Given the description of an element on the screen output the (x, y) to click on. 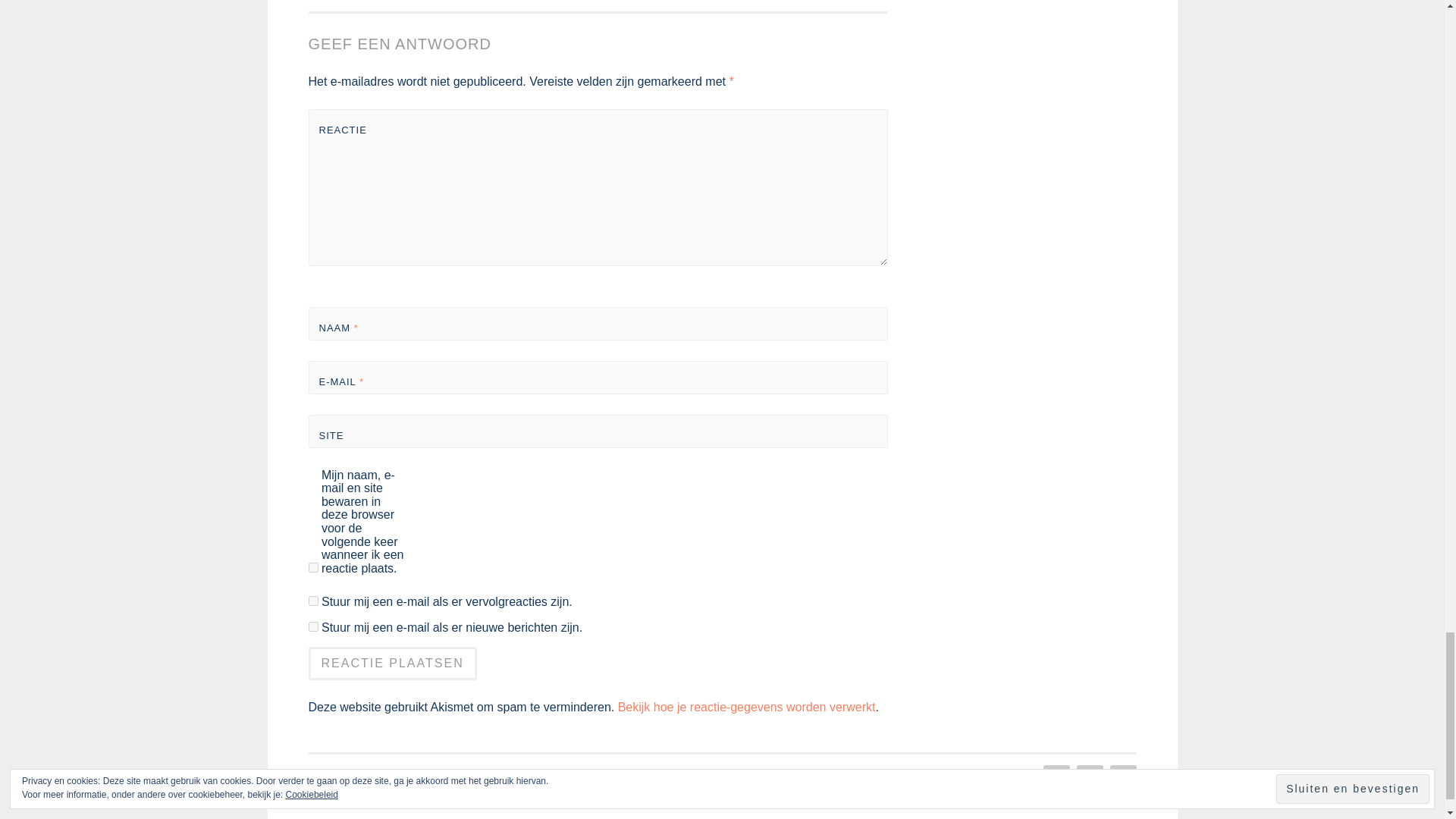
Reactie plaatsen (391, 663)
subscribe (312, 626)
yes (312, 567)
subscribe (312, 601)
